Given the description of an element on the screen output the (x, y) to click on. 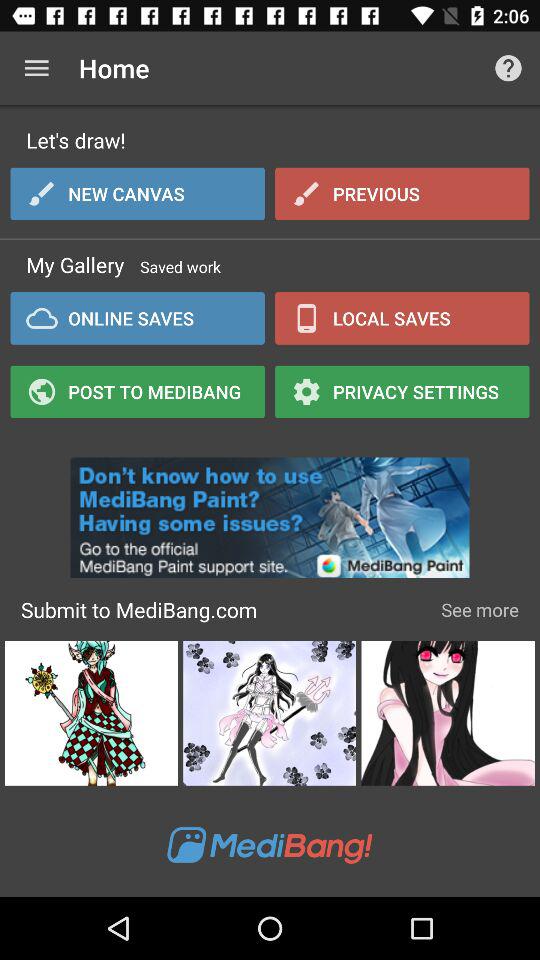
open item to the right of the online saves (402, 391)
